Given the description of an element on the screen output the (x, y) to click on. 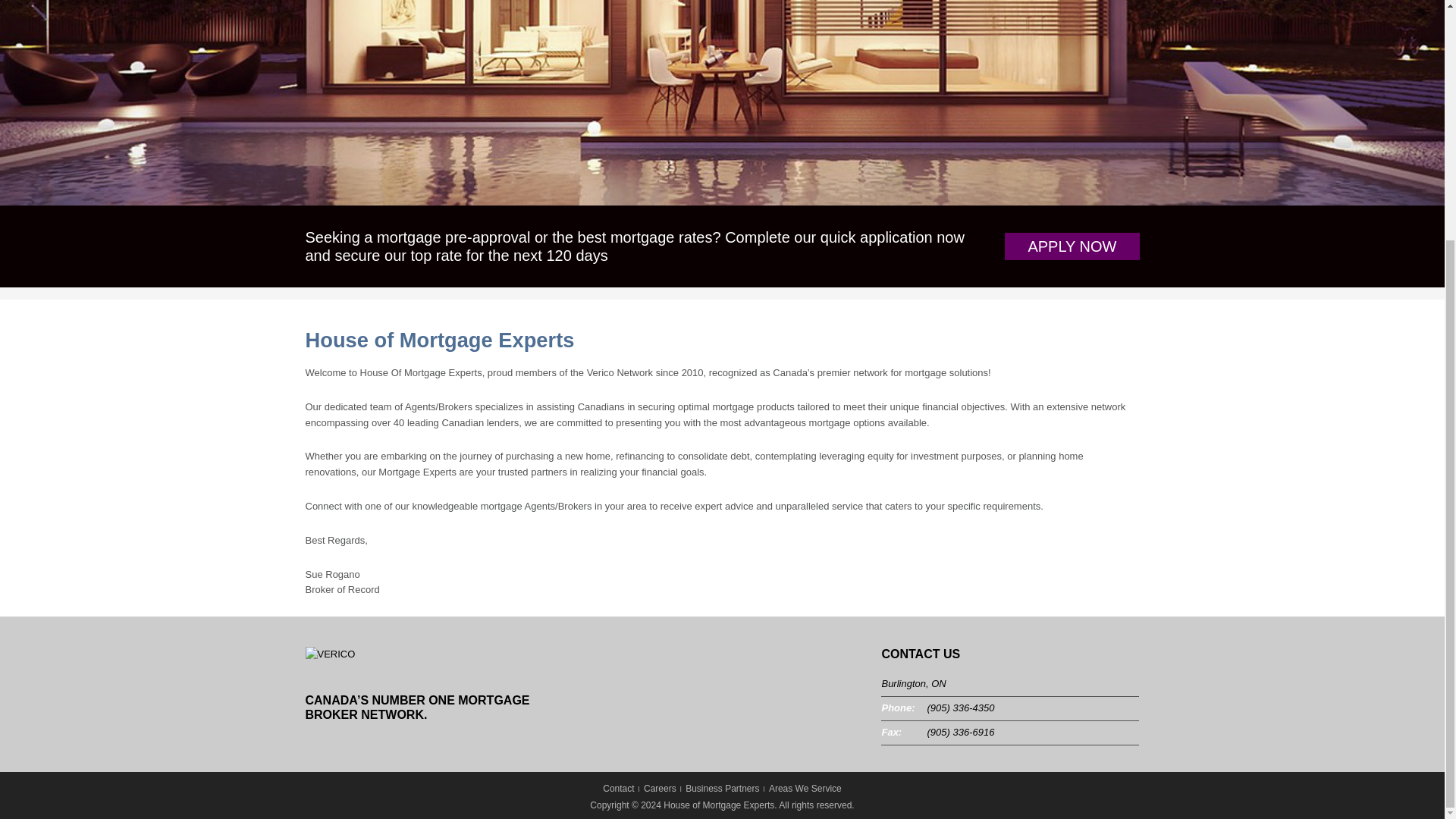
Careers (660, 787)
Business Partners (721, 787)
Contact (617, 787)
Areas We Service (804, 787)
APPLY NOW (1071, 246)
